Given the description of an element on the screen output the (x, y) to click on. 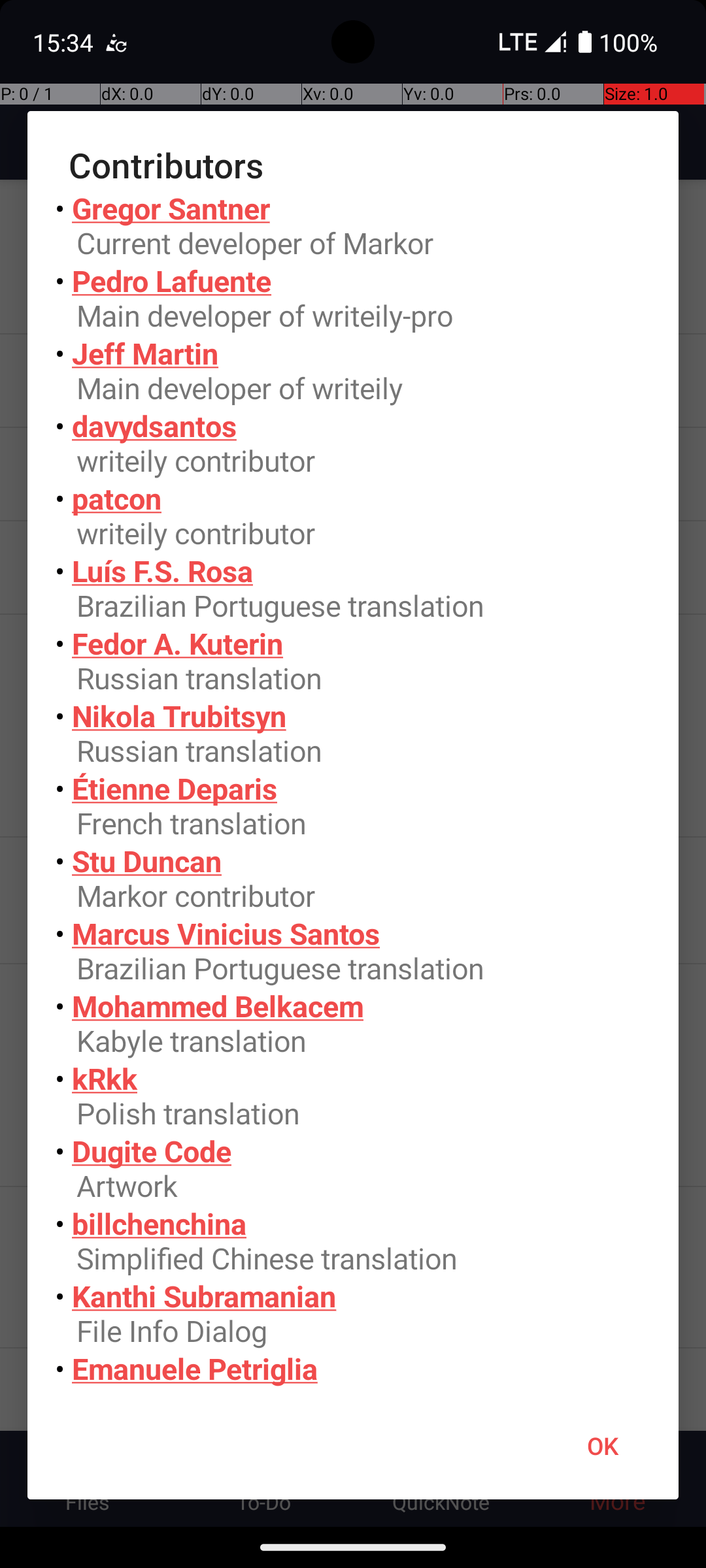
• Gregor Santner
   Current developer of Markor
• Pedro Lafuente
   Main developer of writeily-pro
• Jeff Martin
   Main developer of writeily
• davydsantos
   writeily contributor
• patcon
   writeily contributor
• Luís F.S. Rosa
   Brazilian Portuguese translation
• Fedor A. Kuterin
   Russian translation
• Nikola Trubitsyn
   Russian translation
• Étienne Deparis
   French translation
• Stu Duncan
   Markor contributor
• Marcus Vinicius Santos
   Brazilian Portuguese translation
• Mohammed Belkacem
   Kabyle translation
• kRkk
   Polish translation
• Dugite Code
   Artwork
• billchenchina
   Simplified Chinese translation
• Kanthi Subramanian
   File Info Dialog
• Emanuele Petriglia
   Italian translation
• Tiago Danin
   Brazilian Portuguese translation
• Jesica Chu
   Spanish and Traiditonal Chinese translation
• Ankush S Shetkar
   Added Chrome custom tabs for urls
• Lars Pontoppidan
   Danish translation
• Amaya Lim
   Improve project description
• Jawkwon Im
   Add keep screen on
• Mark Goldman
   Added sorting for todo.txt, improved wiki
• natanelho
   Hebrew translation
• Alexander Sachse
   Added simple word counter
• Kyle Phelps
   Added functionality to share multiple files from file browser
• Vladislav Glinsky
   Ukrainian/Russian translations
• David Hebbeker
   Added tooltips for text actions.
• Harshad Srinivasan
   Added functionality to handle leading spaces in lists.
• Niels
   Added encryption for textfile contents.
• Helguli
   Added fast scroll to editor.
• Patricia Heimfarth
   Added checkbox for todo completion date
• Peter Schwede
   Added Zim-Wiki support.
• Frederic Jacob
   Added Zim-Wiki highlighting, text actions, view mode, page creation.
• Winston Feng
   Support spaces in URL.
• k3b
   Added CSV-Support.
 Element type: android.widget.TextView (352, 790)
